Given the description of an element on the screen output the (x, y) to click on. 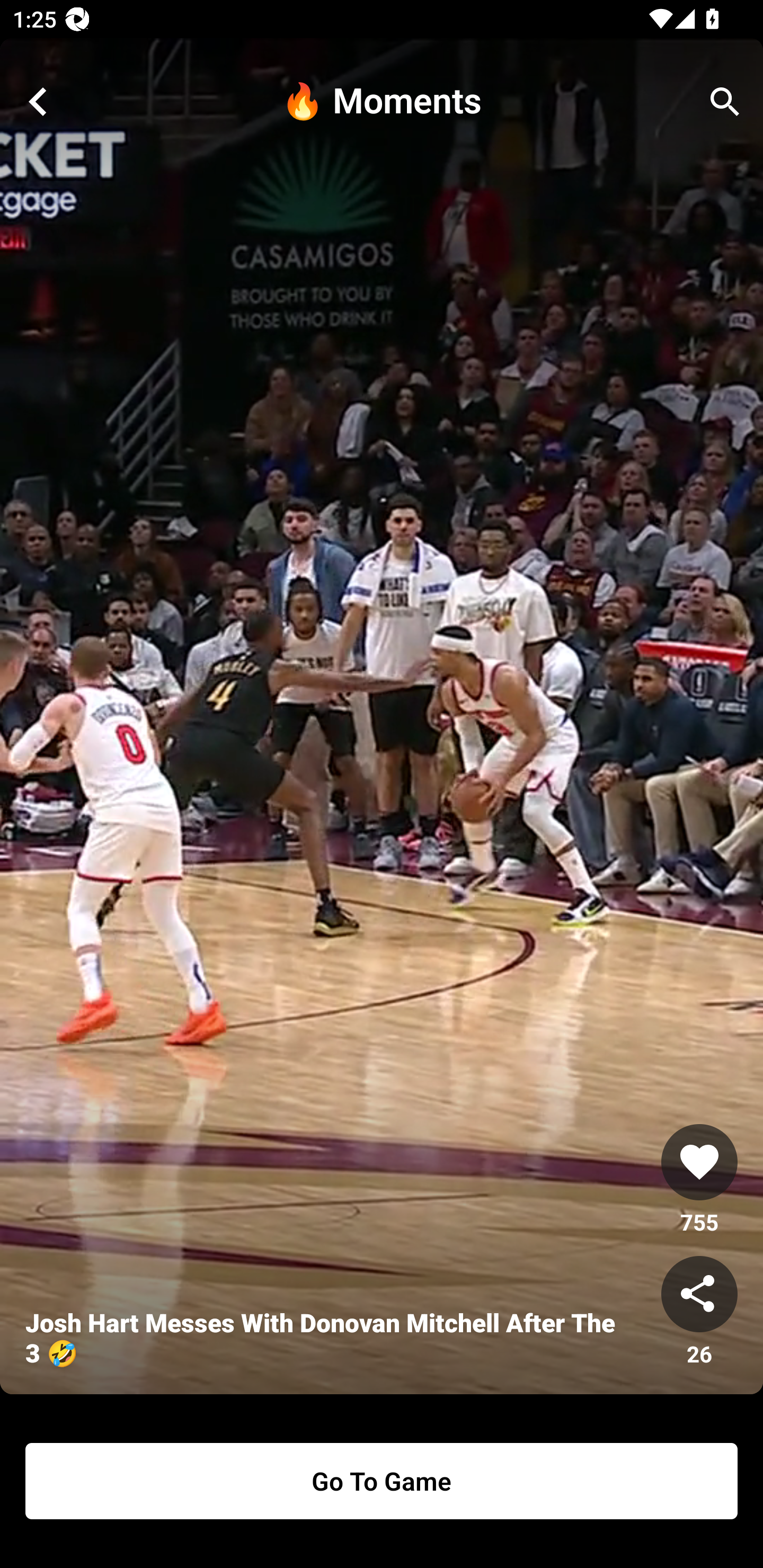
close (38, 101)
search (724, 101)
like 755 755 Likes (699, 1180)
share 26 26 Shares (699, 1311)
Go To Game (381, 1480)
